Given the description of an element on the screen output the (x, y) to click on. 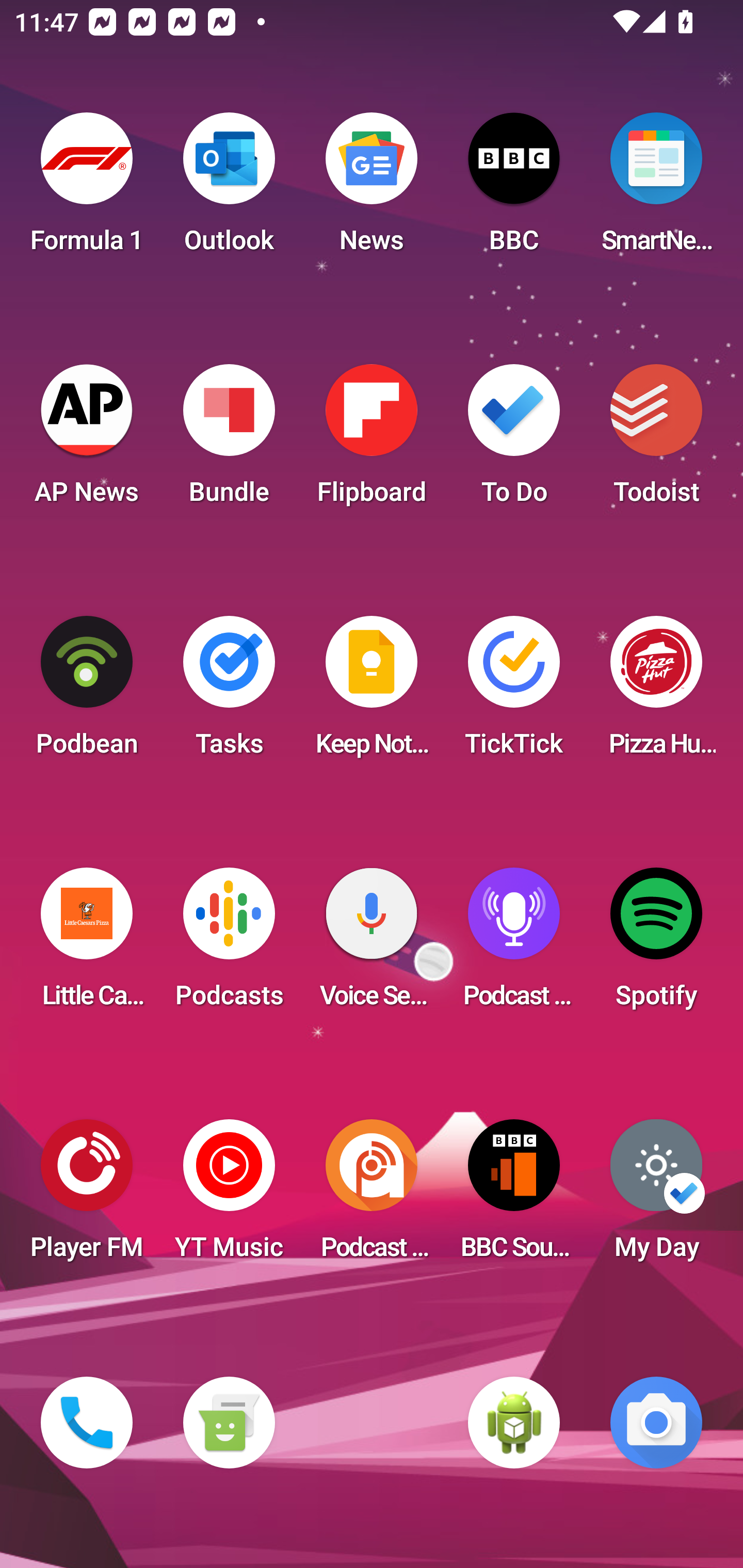
Formula 1 (86, 188)
Outlook (228, 188)
News (371, 188)
BBC (513, 188)
SmartNews (656, 188)
AP News (86, 440)
Bundle (228, 440)
Flipboard (371, 440)
To Do (513, 440)
Todoist (656, 440)
Podbean (86, 692)
Tasks (228, 692)
Keep Notes (371, 692)
TickTick (513, 692)
Pizza Hut HK & Macau (656, 692)
Little Caesars Pizza (86, 943)
Podcasts (228, 943)
Voice Search (371, 943)
Podcast Player (513, 943)
Spotify (656, 943)
Player FM (86, 1195)
YT Music (228, 1195)
Podcast Addict (371, 1195)
BBC Sounds (513, 1195)
My Day (656, 1195)
Phone (86, 1422)
Messaging (228, 1422)
WebView Browser Tester (513, 1422)
Camera (656, 1422)
